Given the description of an element on the screen output the (x, y) to click on. 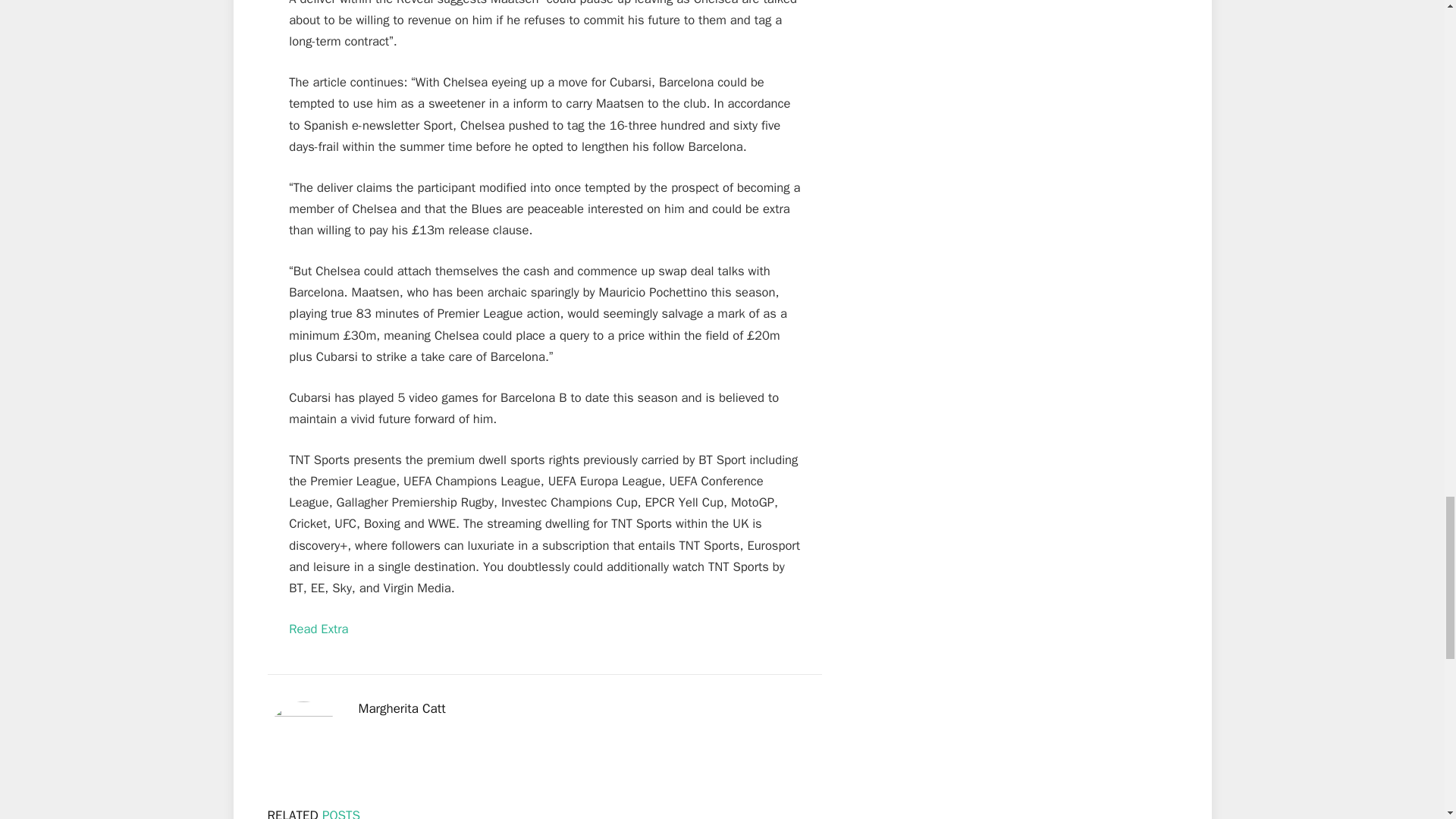
Margherita Catt (401, 708)
Read Extra (317, 628)
Posts by Margherita Catt (401, 708)
